Given the description of an element on the screen output the (x, y) to click on. 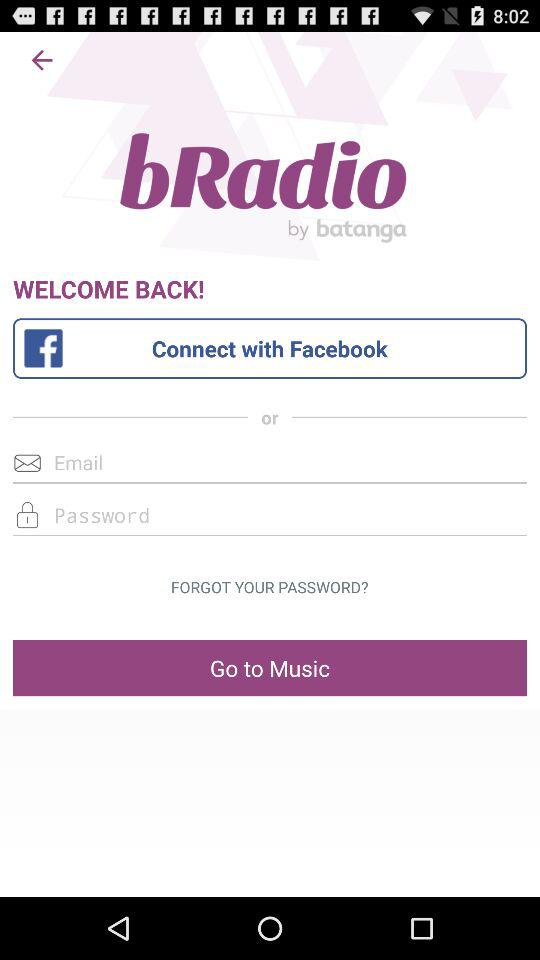
turn off the app above the welcome back! item (41, 60)
